Given the description of an element on the screen output the (x, y) to click on. 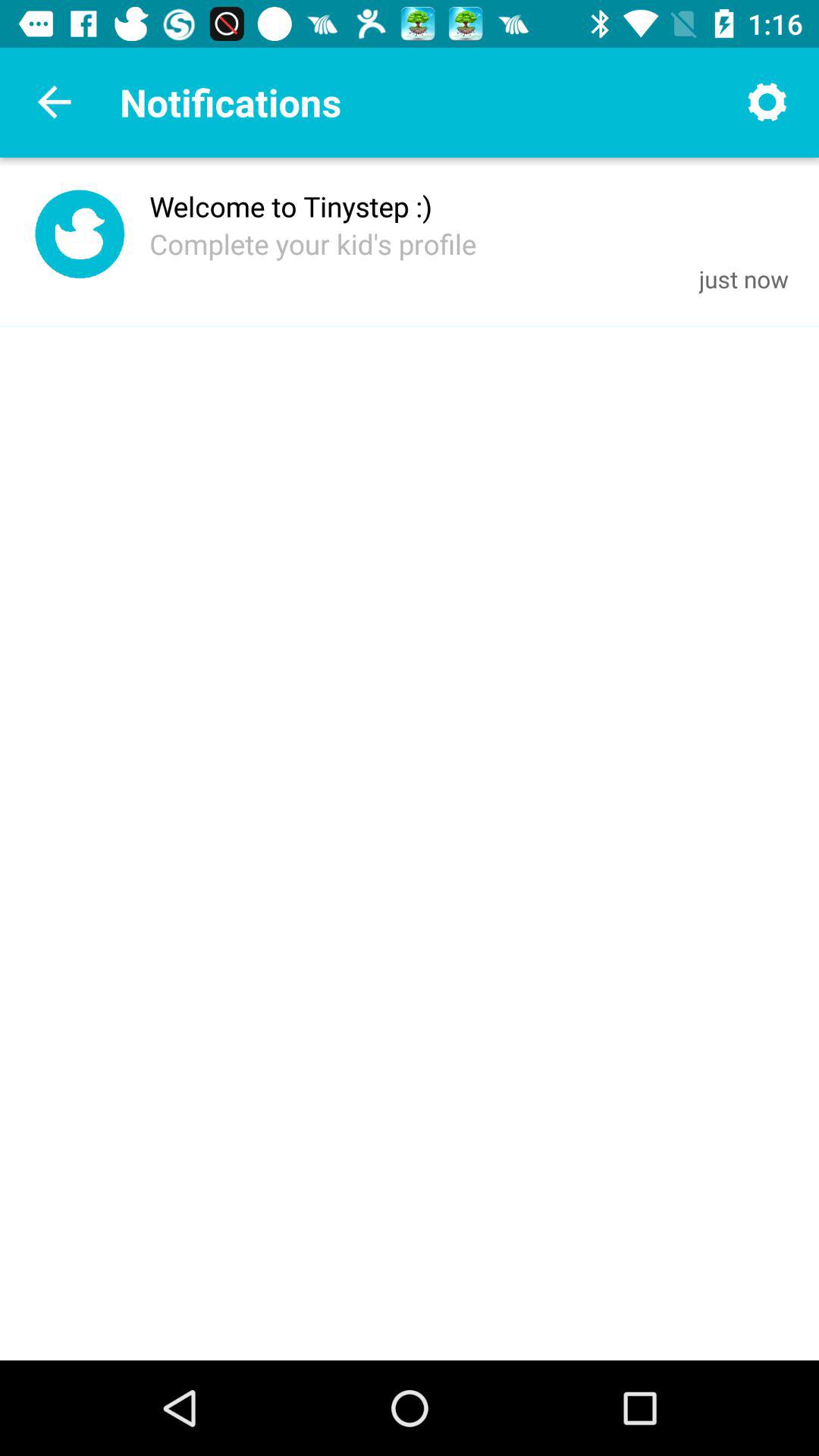
press the item below welcome to tinystep :) (312, 243)
